Given the description of an element on the screen output the (x, y) to click on. 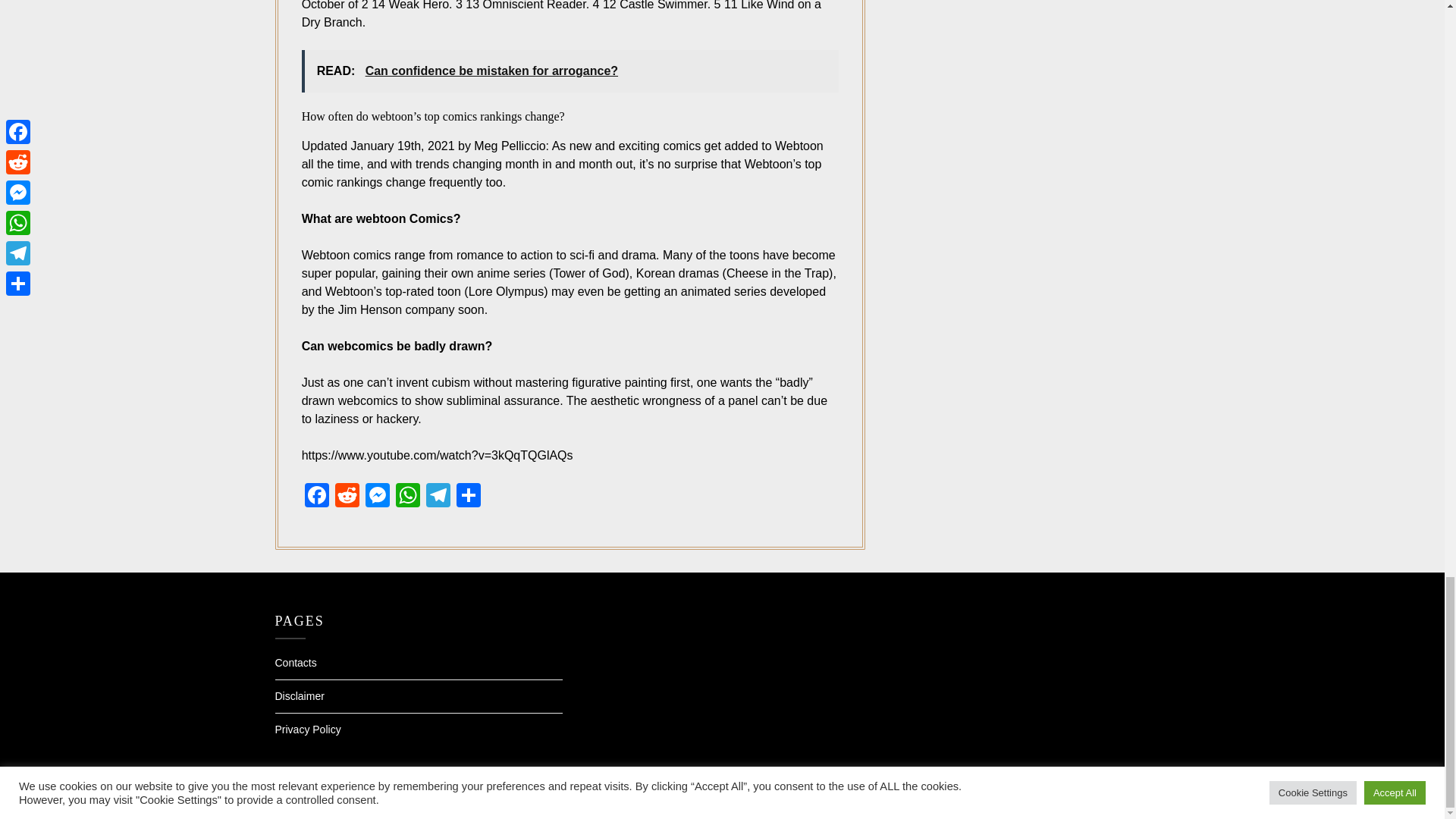
Messenger (377, 497)
Reddit (346, 497)
Telegram (437, 497)
WhatsApp (408, 497)
WhatsApp (408, 497)
Messenger (377, 497)
Facebook (316, 497)
Reddit (346, 497)
Telegram (437, 497)
READ:   Can confidence be mistaken for arrogance? (570, 70)
Facebook (316, 497)
